Given the description of an element on the screen output the (x, y) to click on. 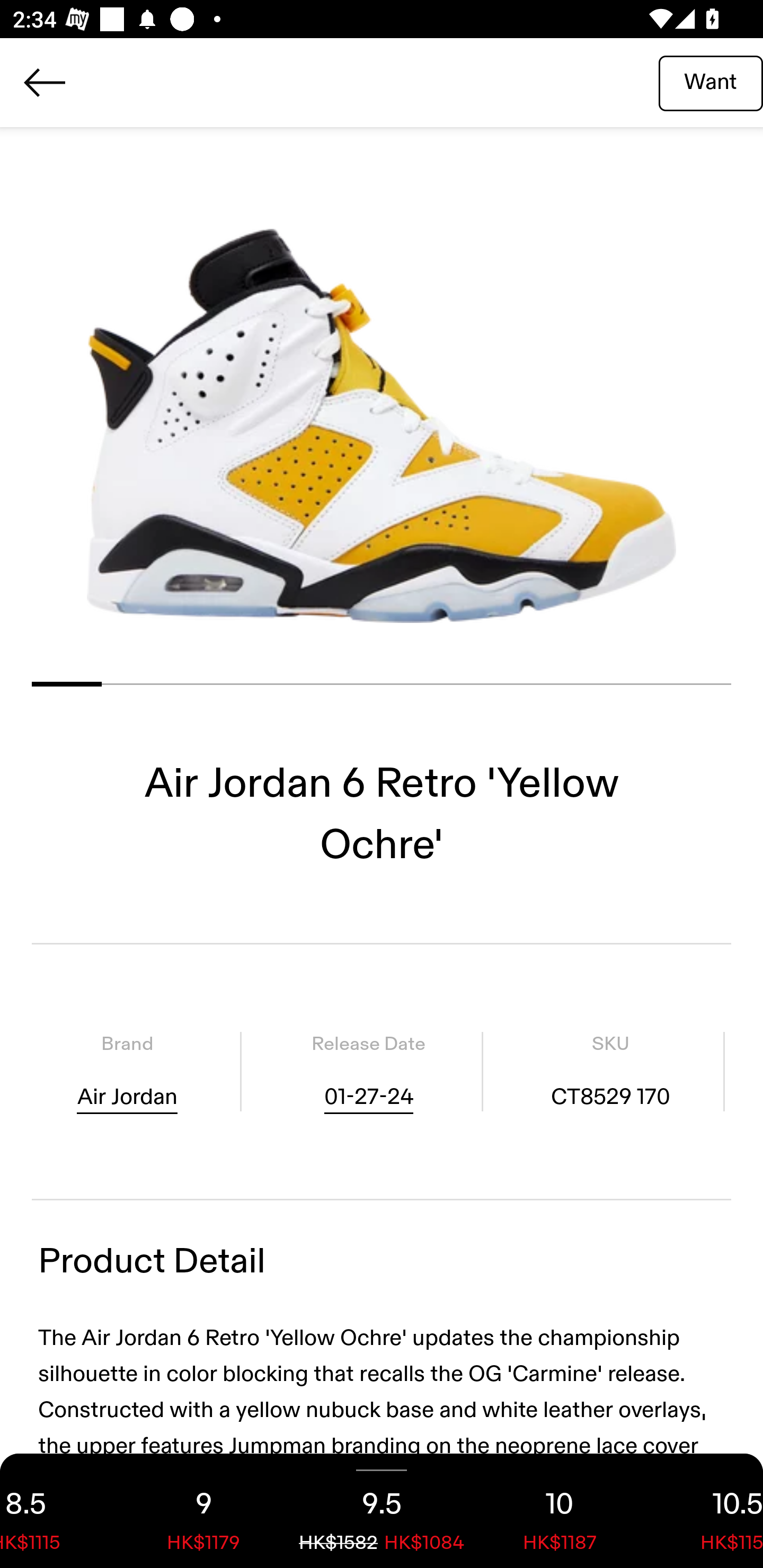
Want (710, 82)
Brand Air Jordan (126, 1070)
Release Date 01-27-24 (368, 1070)
SKU CT8529 170 (609, 1070)
8.5 HK$1115 (57, 1510)
9 HK$1179 (203, 1510)
9.5 HK$1582 HK$1084 (381, 1510)
10 HK$1187 (559, 1510)
10.5 HK$1155 (705, 1510)
